Given the description of an element on the screen output the (x, y) to click on. 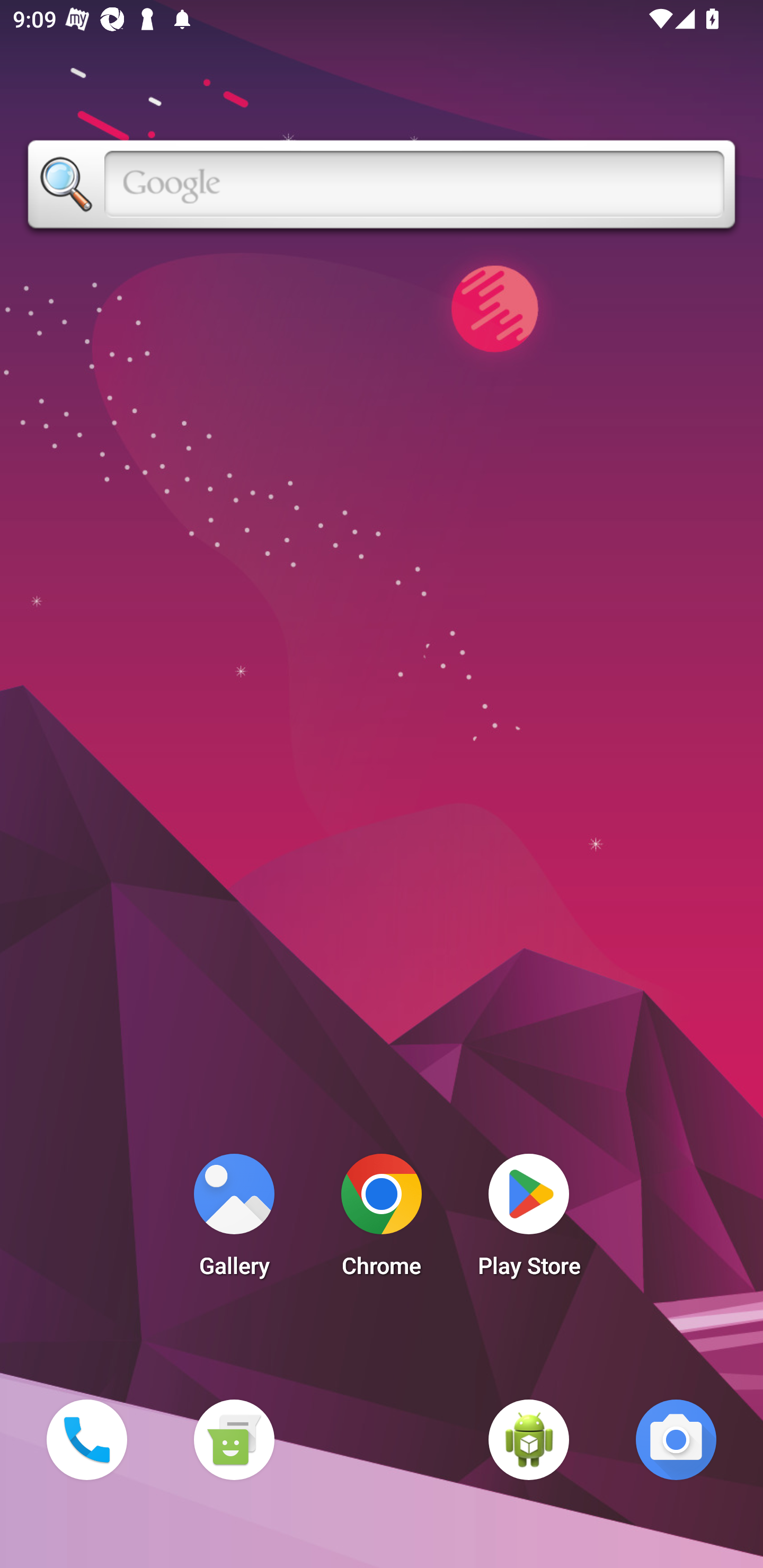
Gallery (233, 1220)
Chrome (381, 1220)
Play Store (528, 1220)
Phone (86, 1439)
Messaging (233, 1439)
WebView Browser Tester (528, 1439)
Camera (676, 1439)
